Given the description of an element on the screen output the (x, y) to click on. 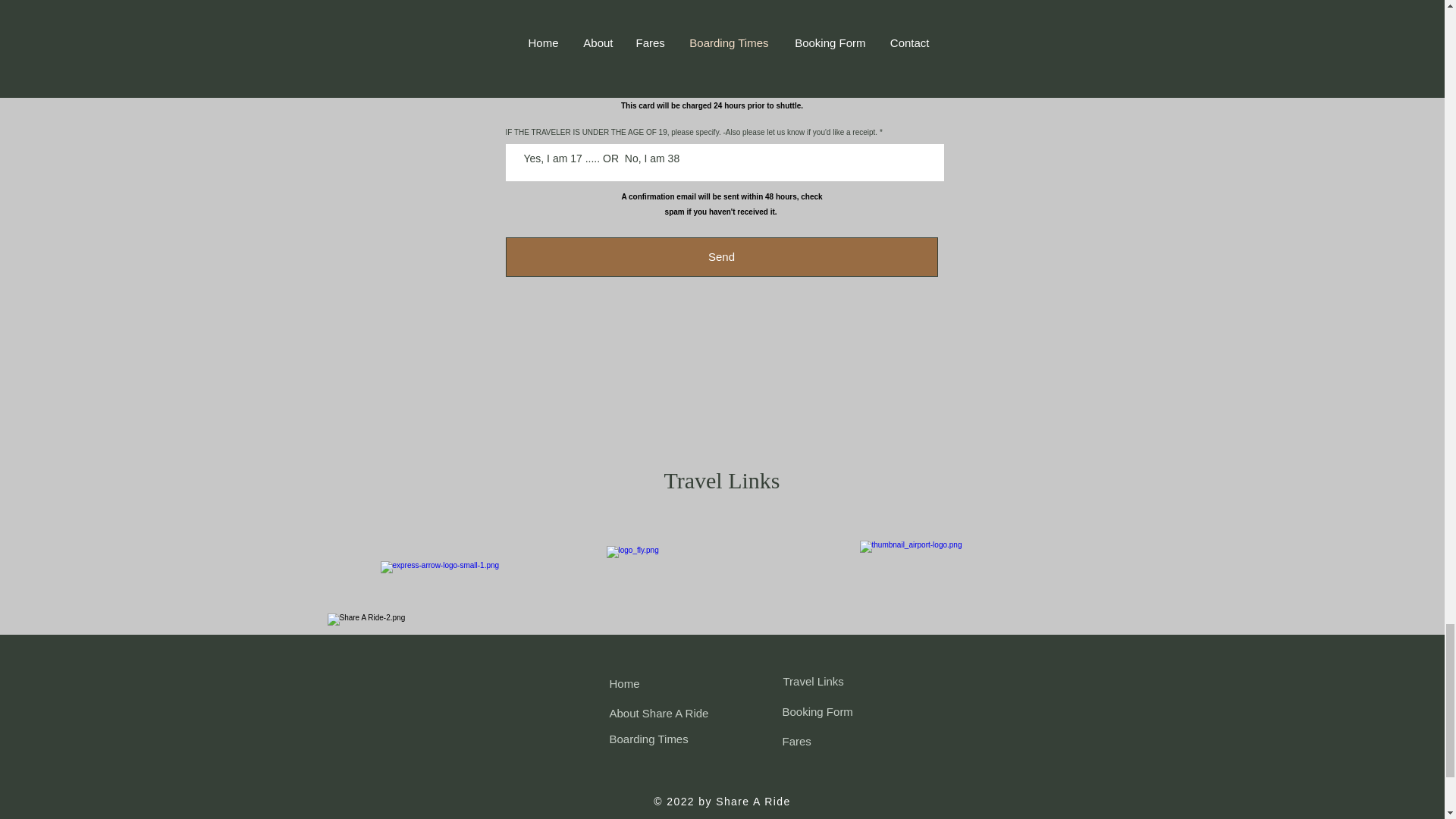
Fares (796, 740)
Travel Links (813, 680)
Home (625, 683)
This card will be charged 24 hours prior to shuttle. (712, 104)
About Share A Ride (659, 712)
Booking Form (818, 711)
Boarding Times (649, 738)
Send (721, 256)
